Given the description of an element on the screen output the (x, y) to click on. 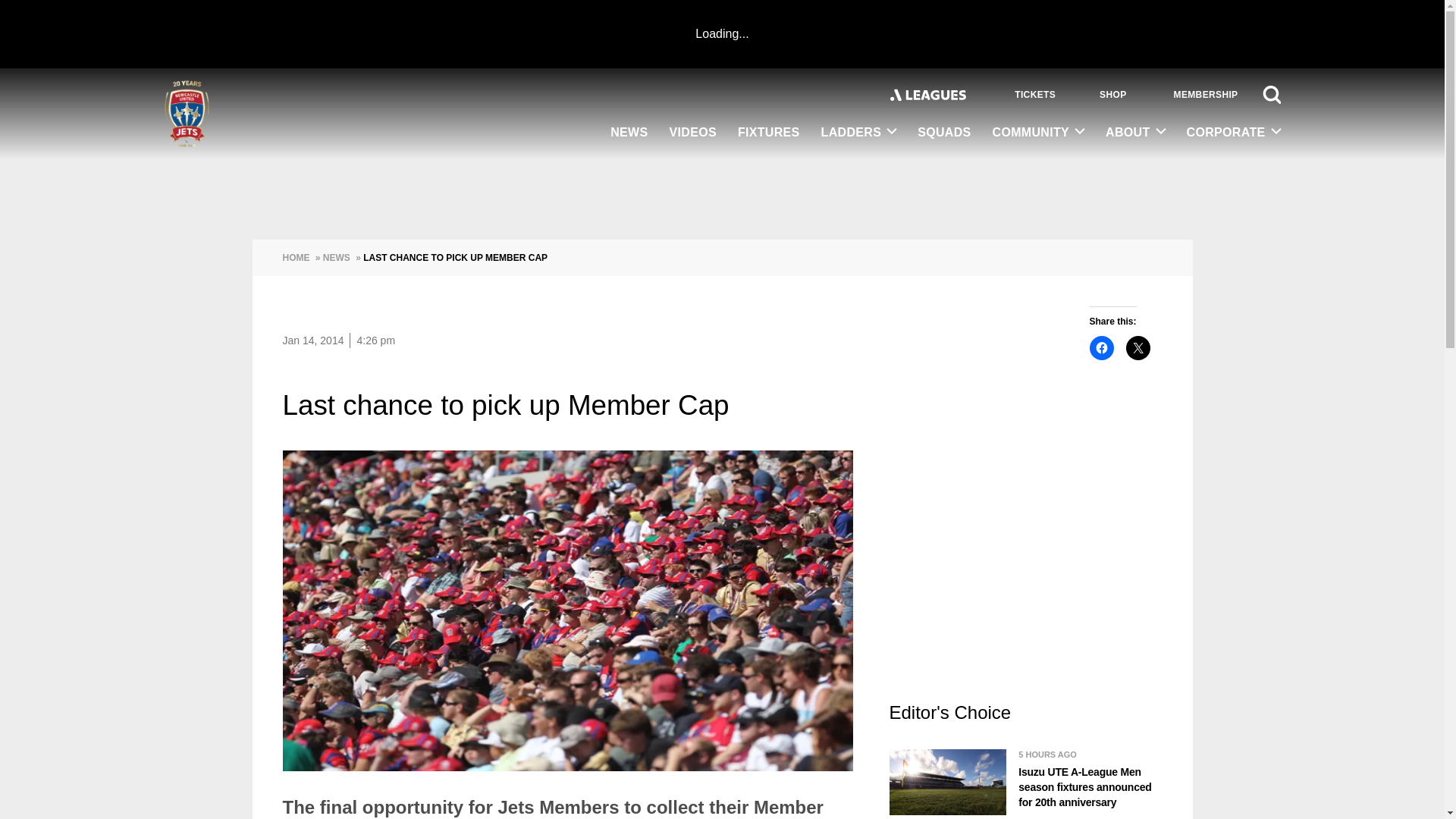
SQUADS (944, 133)
ABOUT (1134, 132)
CORPORATE (1228, 132)
COMMUNITY (1038, 132)
NEWS (628, 133)
VIDEOS (692, 133)
Click to share on X (1137, 347)
FIXTURES (768, 133)
Click to share on Facebook (1101, 347)
LADDERS (858, 132)
